Given the description of an element on the screen output the (x, y) to click on. 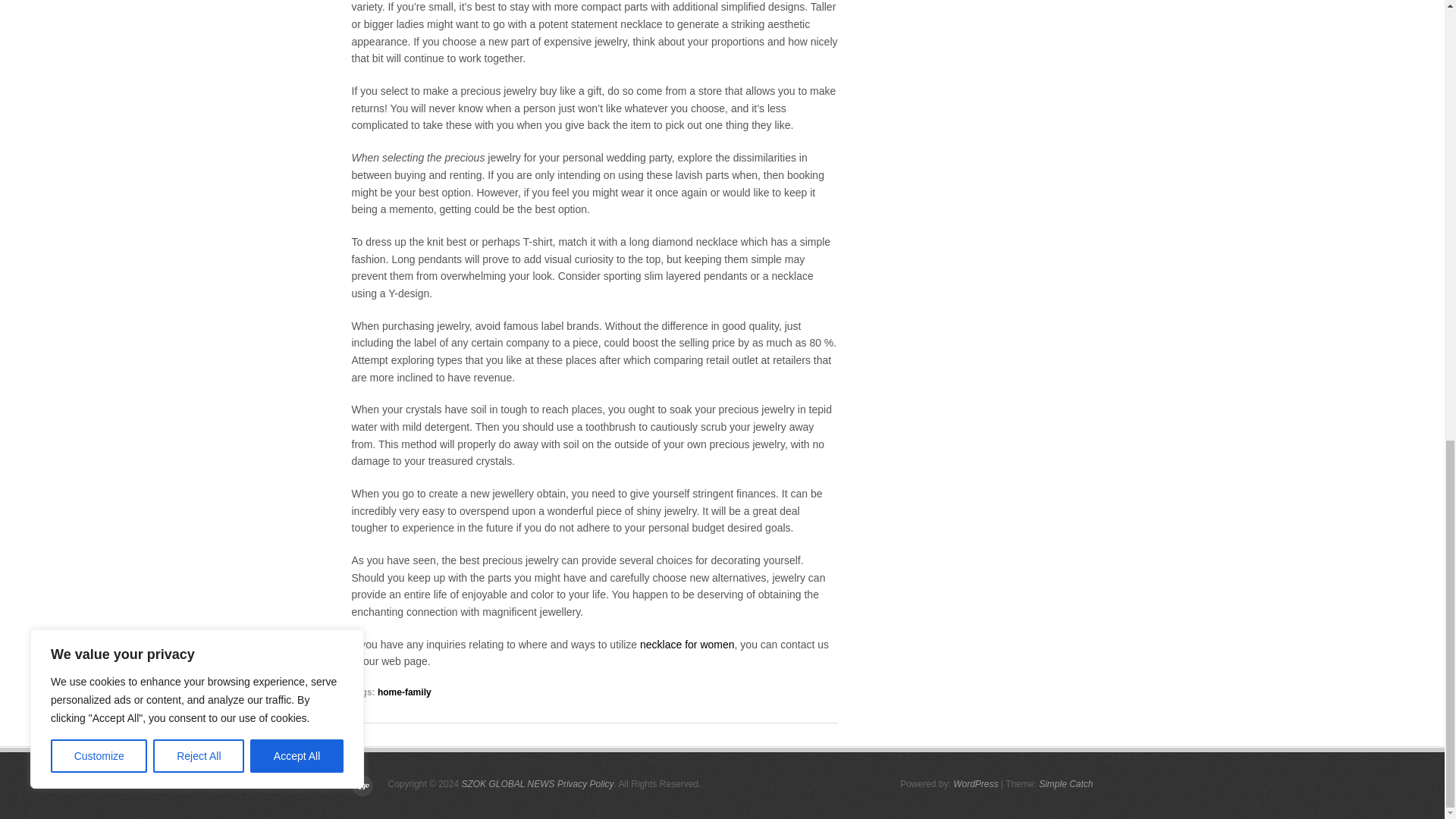
home-family (403, 692)
SZOK GLOBAL NEWS (507, 783)
necklace for women (687, 644)
Simple Catch (1066, 783)
WordPress (975, 783)
